Given the description of an element on the screen output the (x, y) to click on. 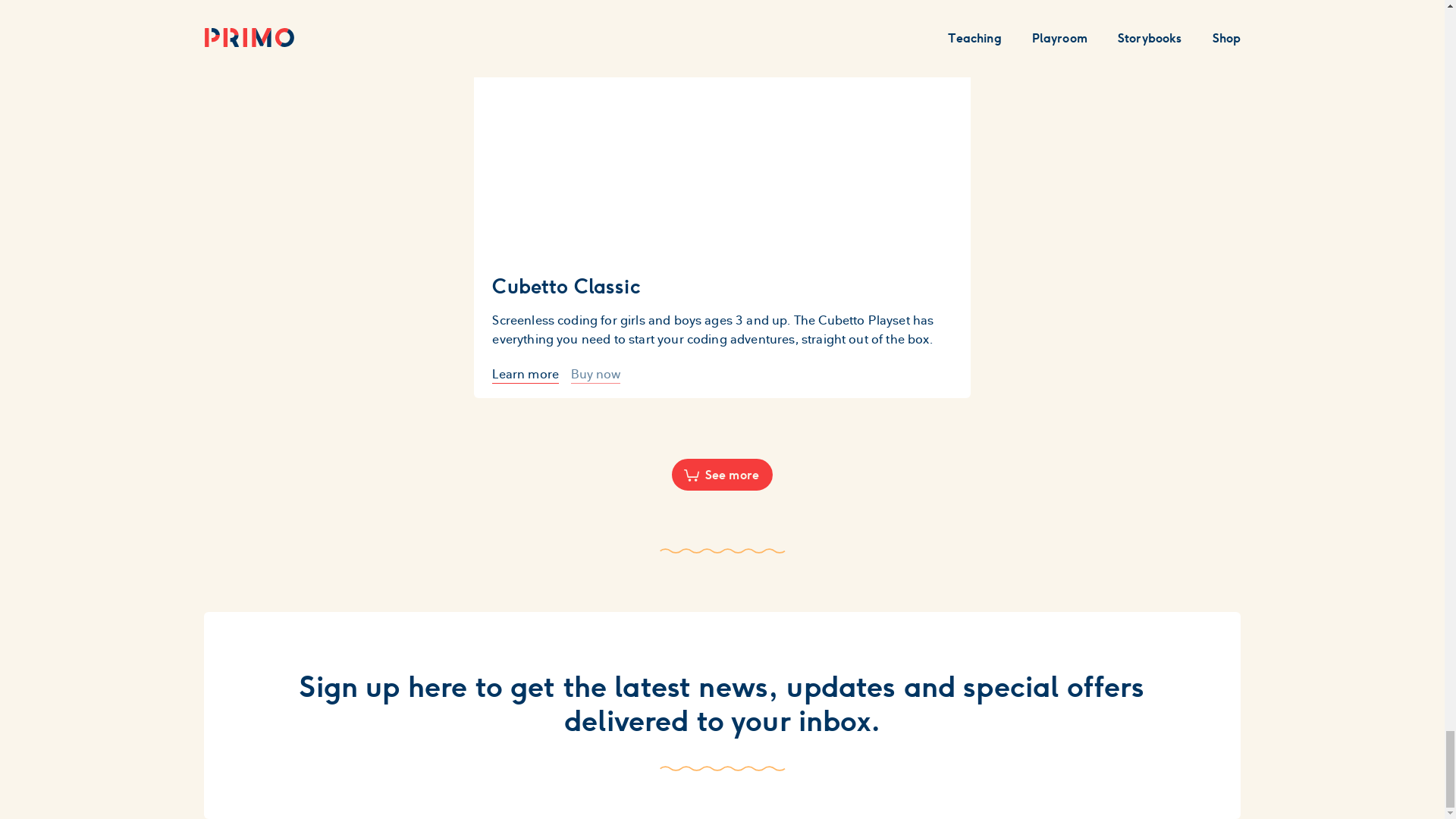
Buy now (595, 374)
See more (722, 474)
Learn more (525, 374)
Cubetto Classic (722, 285)
